Given the description of an element on the screen output the (x, y) to click on. 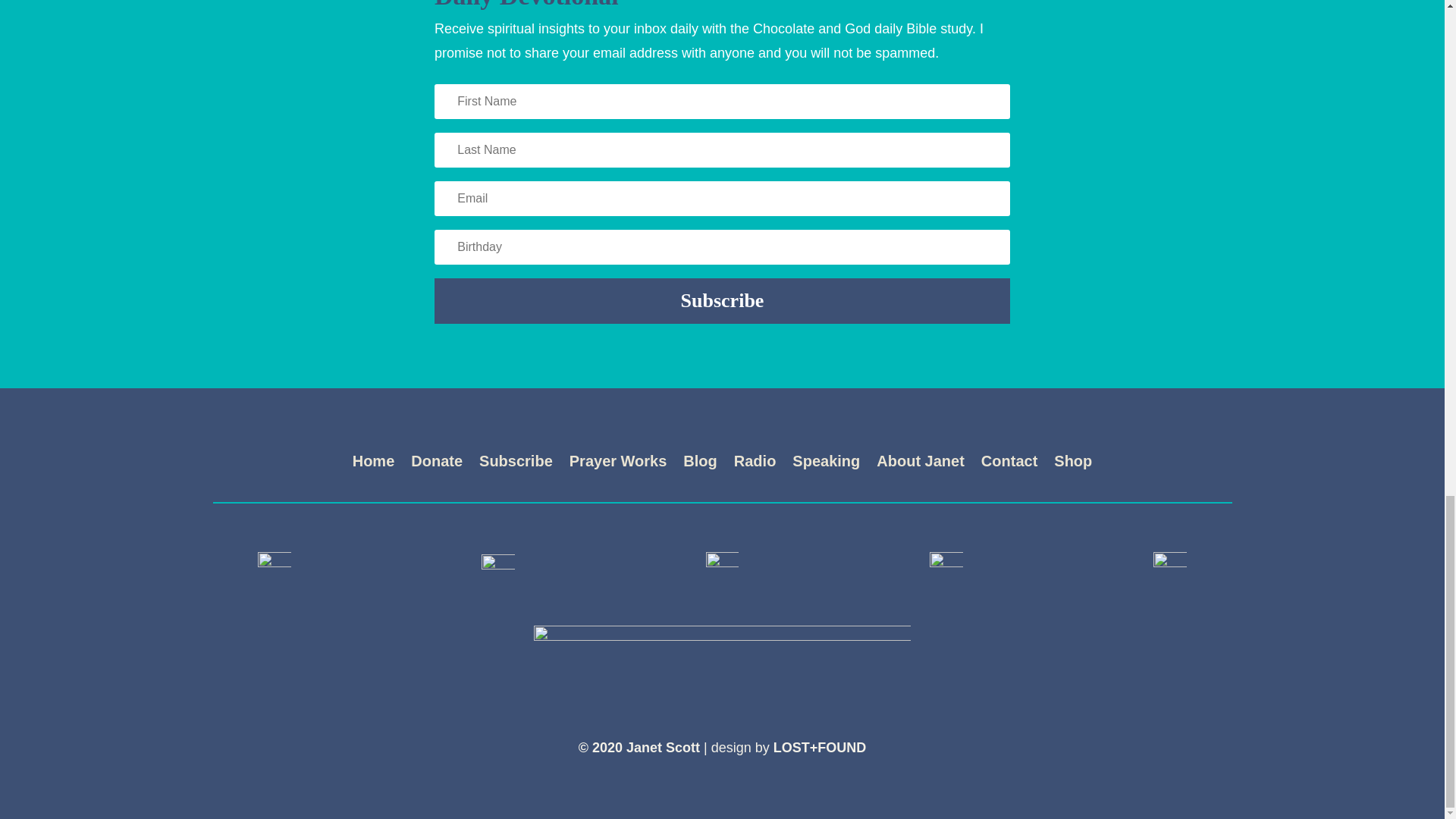
Speaking (826, 463)
facebok-footer-icon (274, 567)
linkedin-footer-icon (1169, 568)
Prayer Works (617, 463)
Shop (1073, 463)
instagram-footer-icon (722, 567)
Subscribe (721, 300)
Blog (699, 463)
Donate (436, 463)
Contact (1008, 463)
